Given the description of an element on the screen output the (x, y) to click on. 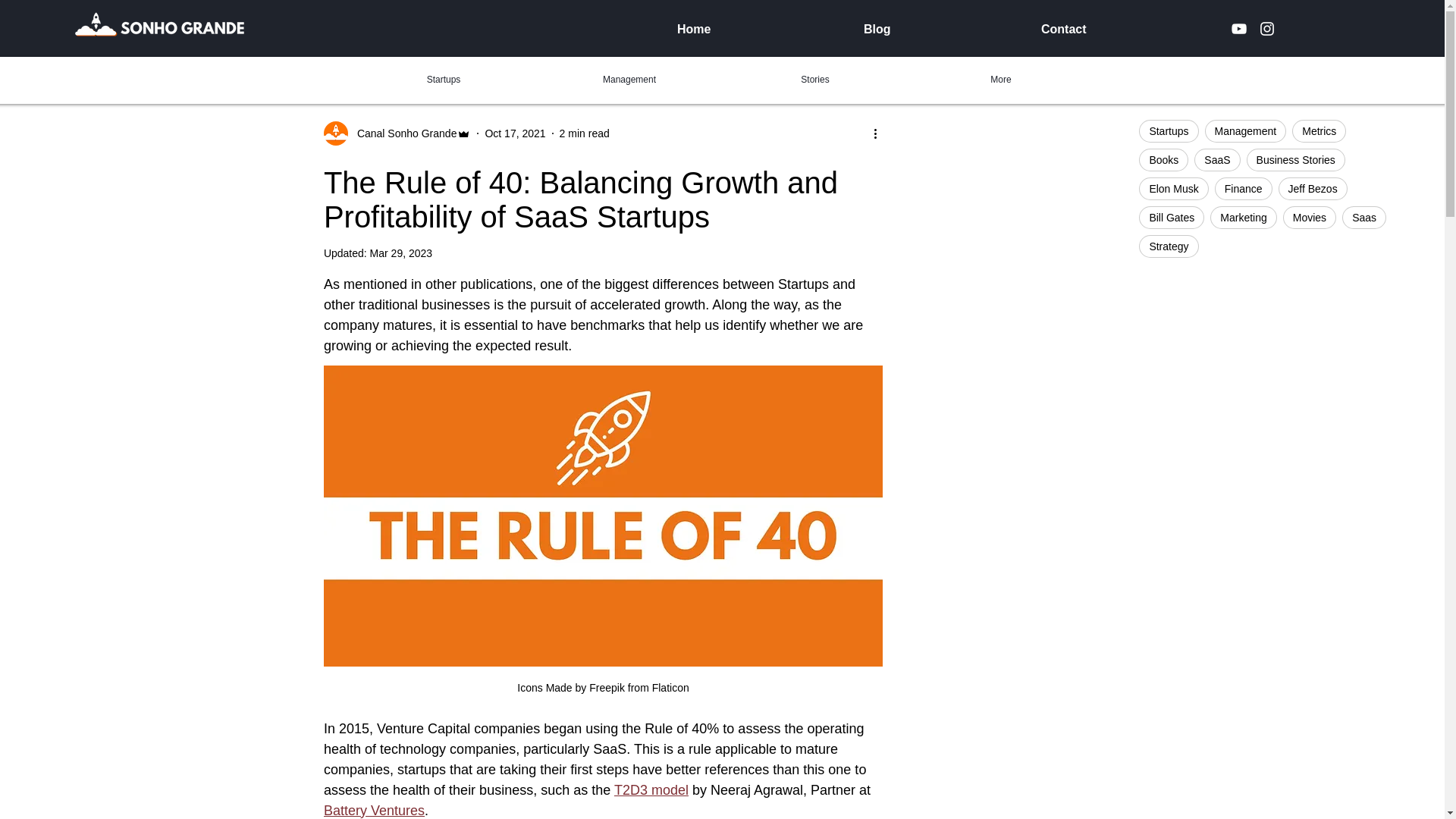
Contact (1126, 28)
Canal Sonho Grande (402, 133)
Management (1246, 130)
Startups (1168, 130)
Stories (814, 79)
Canal Sonho Grande (397, 133)
Management (629, 79)
2 min read (584, 133)
Blog (940, 28)
Startups (442, 79)
